Given the description of an element on the screen output the (x, y) to click on. 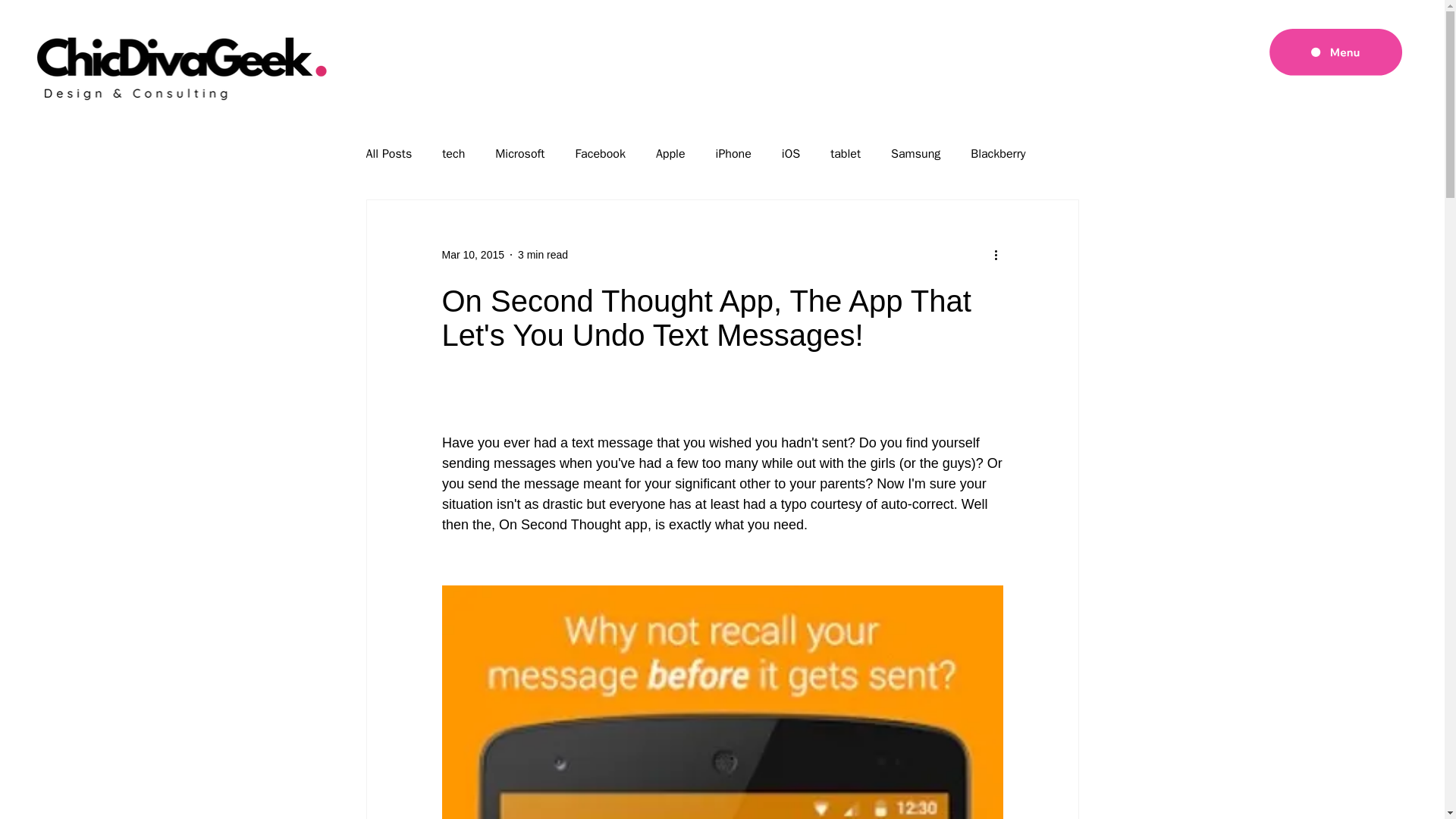
iPhone (733, 153)
Facebook (599, 153)
Mar 10, 2015 (472, 254)
All Posts (388, 153)
Microsoft (519, 153)
Apple (670, 153)
Samsung (915, 153)
tablet (844, 153)
iOS (790, 153)
3 min read (542, 254)
